Given the description of an element on the screen output the (x, y) to click on. 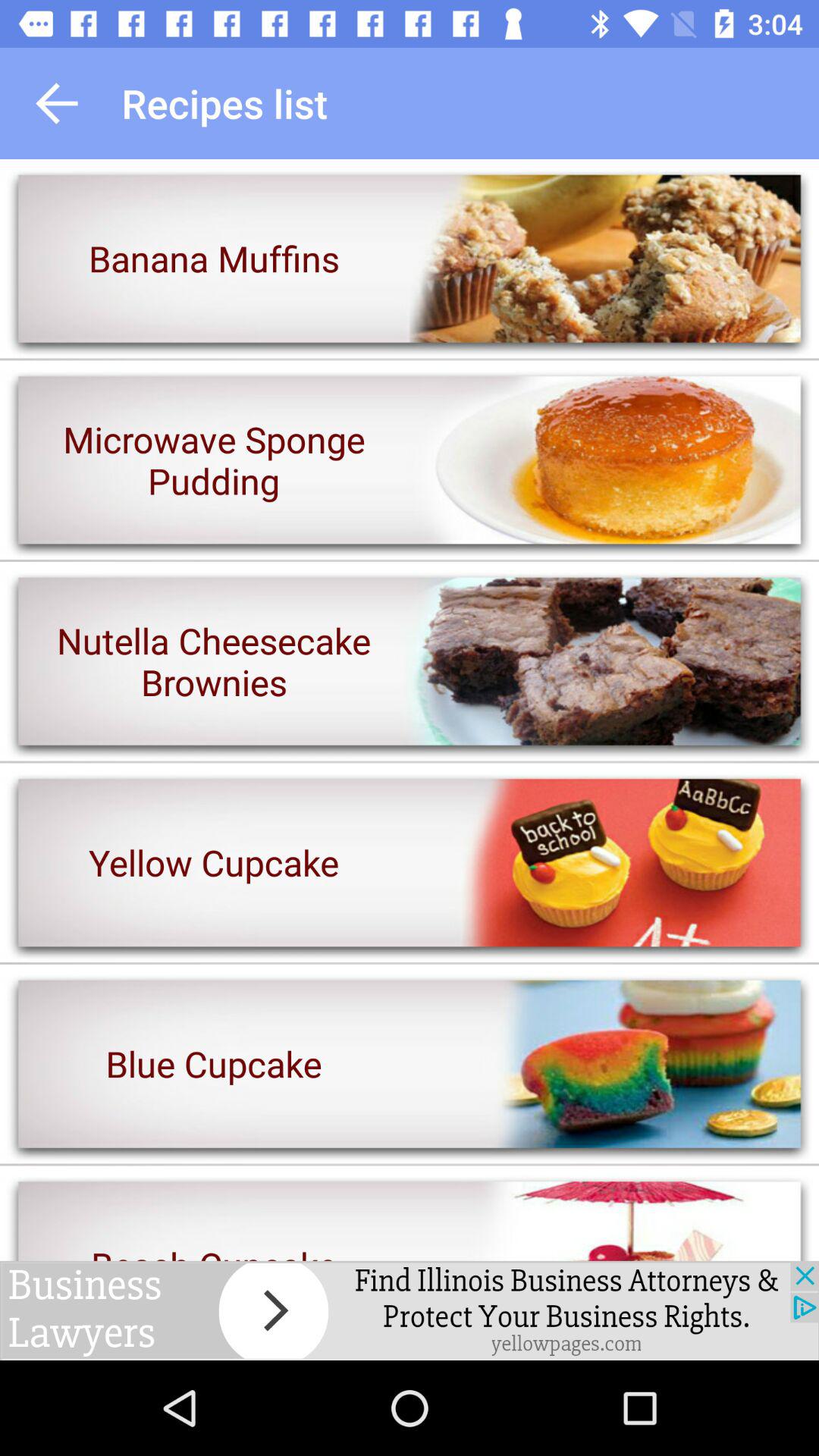
adverts (409, 1310)
